Given the description of an element on the screen output the (x, y) to click on. 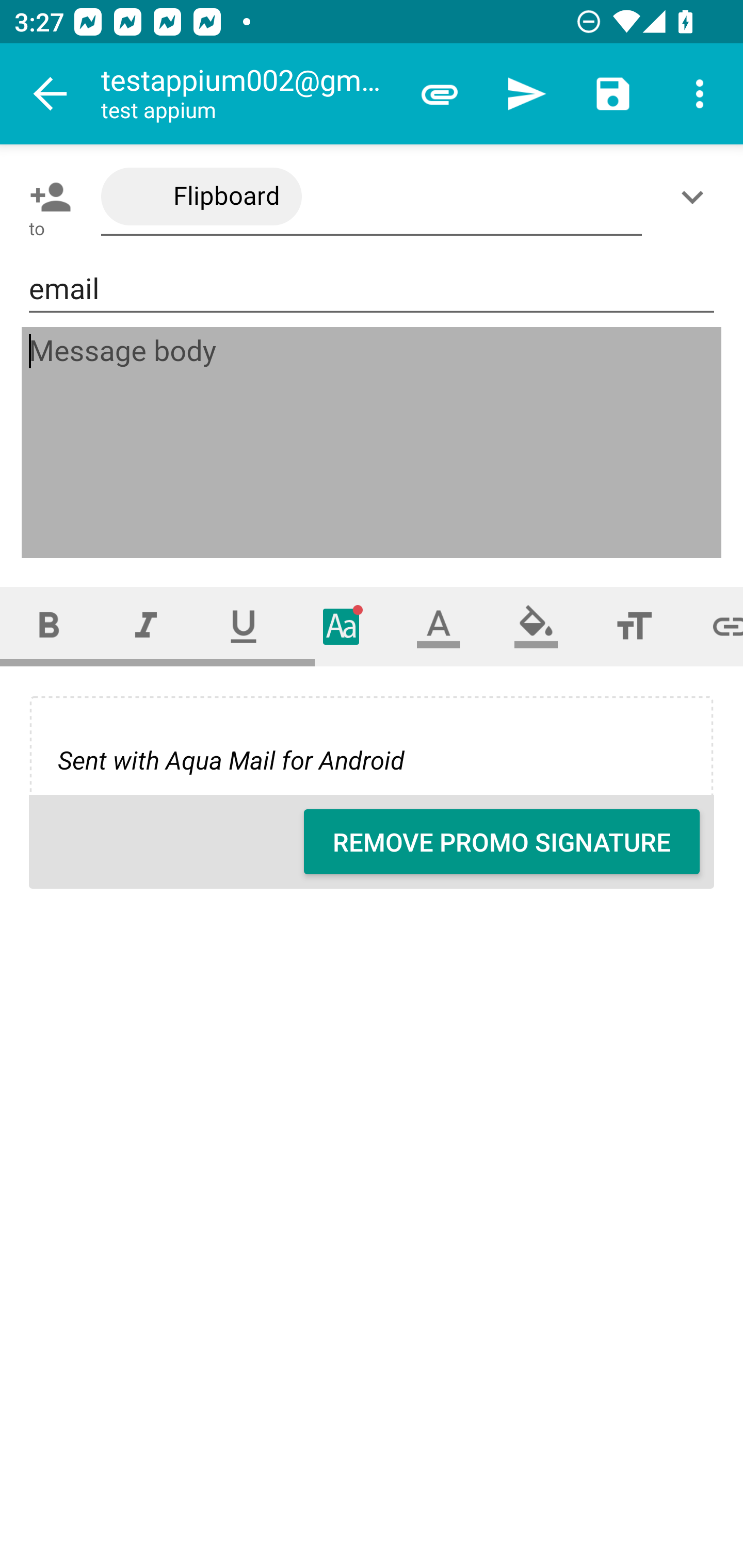
Navigate up (50, 93)
testappium002@gmail.com test appium (248, 93)
Attach (439, 93)
Send (525, 93)
Save (612, 93)
More options (699, 93)
Flipboard <editorialstaff@flipboard.com>,  (371, 197)
Pick contact: To (46, 196)
Show/Add CC/BCC (696, 196)
email (371, 288)
Message body (372, 442)
Bold (48, 626)
Italic (145, 626)
Underline (243, 626)
Typeface (font) (341, 626)
Text color (438, 626)
Fill color (536, 626)
Font size (633, 626)
REMOVE PROMO SIGNATURE (501, 841)
